Given the description of an element on the screen output the (x, y) to click on. 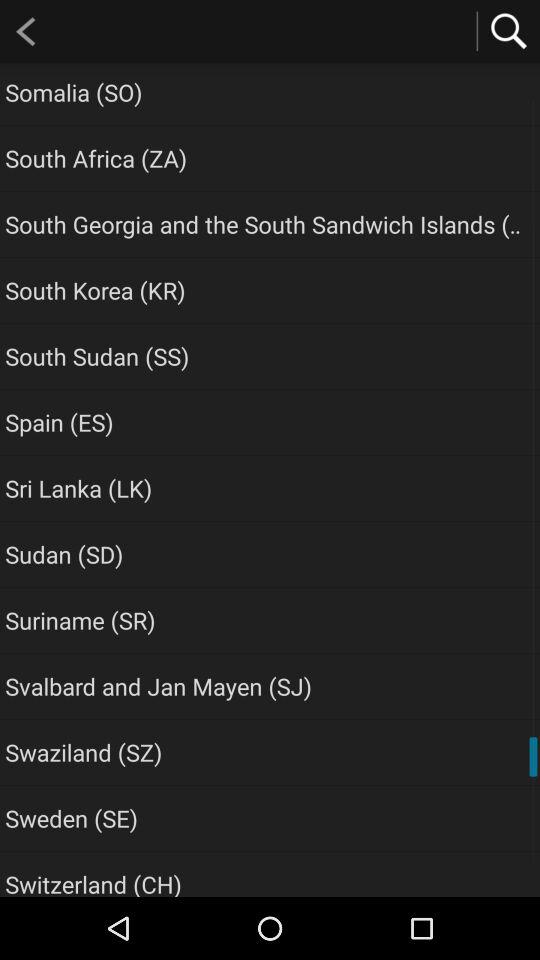
launch the app above the south korea (kr) app (265, 224)
